Given the description of an element on the screen output the (x, y) to click on. 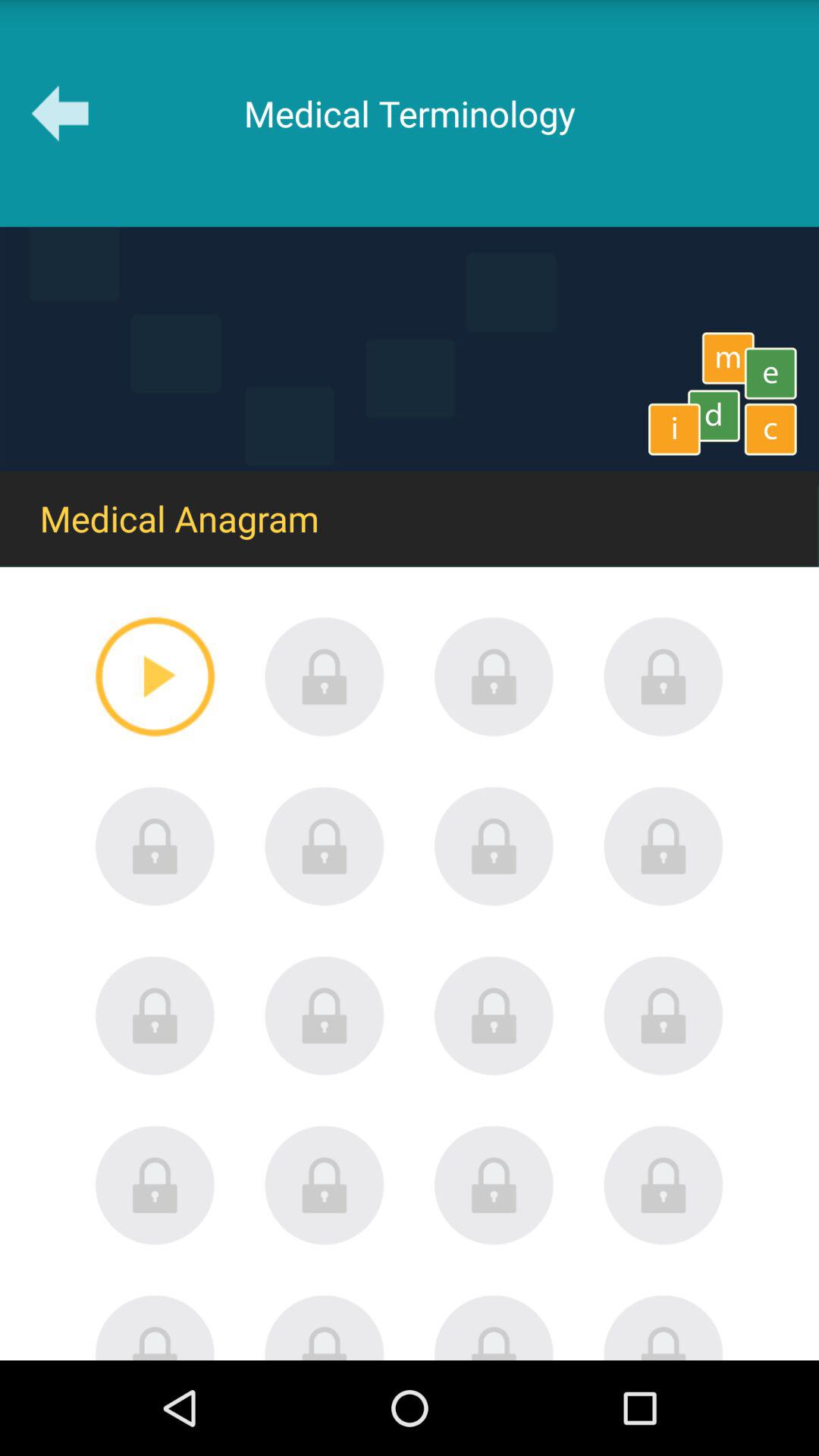
padlock blocked (493, 846)
